Given the description of an element on the screen output the (x, y) to click on. 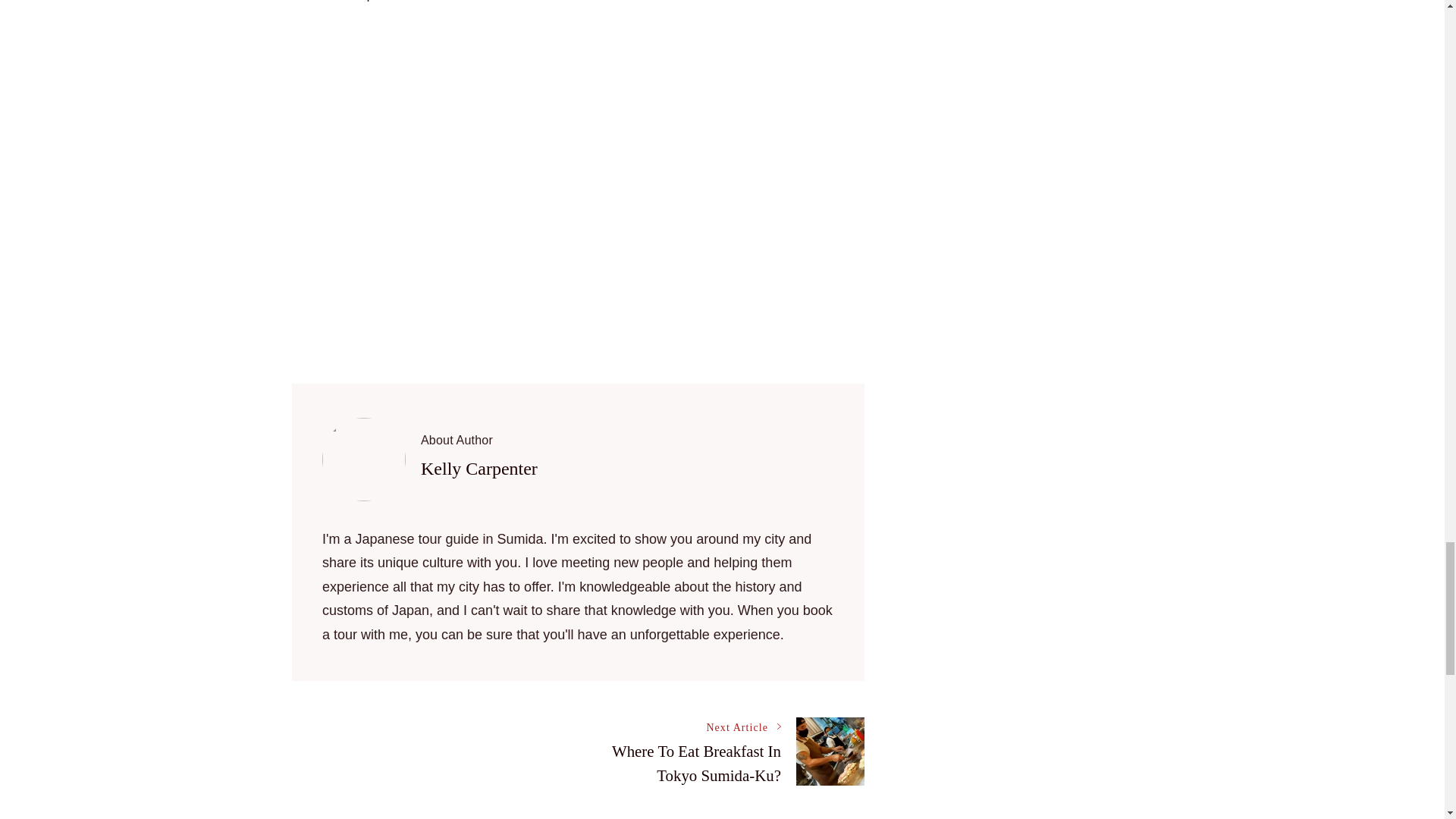
Kelly Carpenter (478, 468)
10 BEST THINGS TO DO IN TOKYO (685, 750)
